Given the description of an element on the screen output the (x, y) to click on. 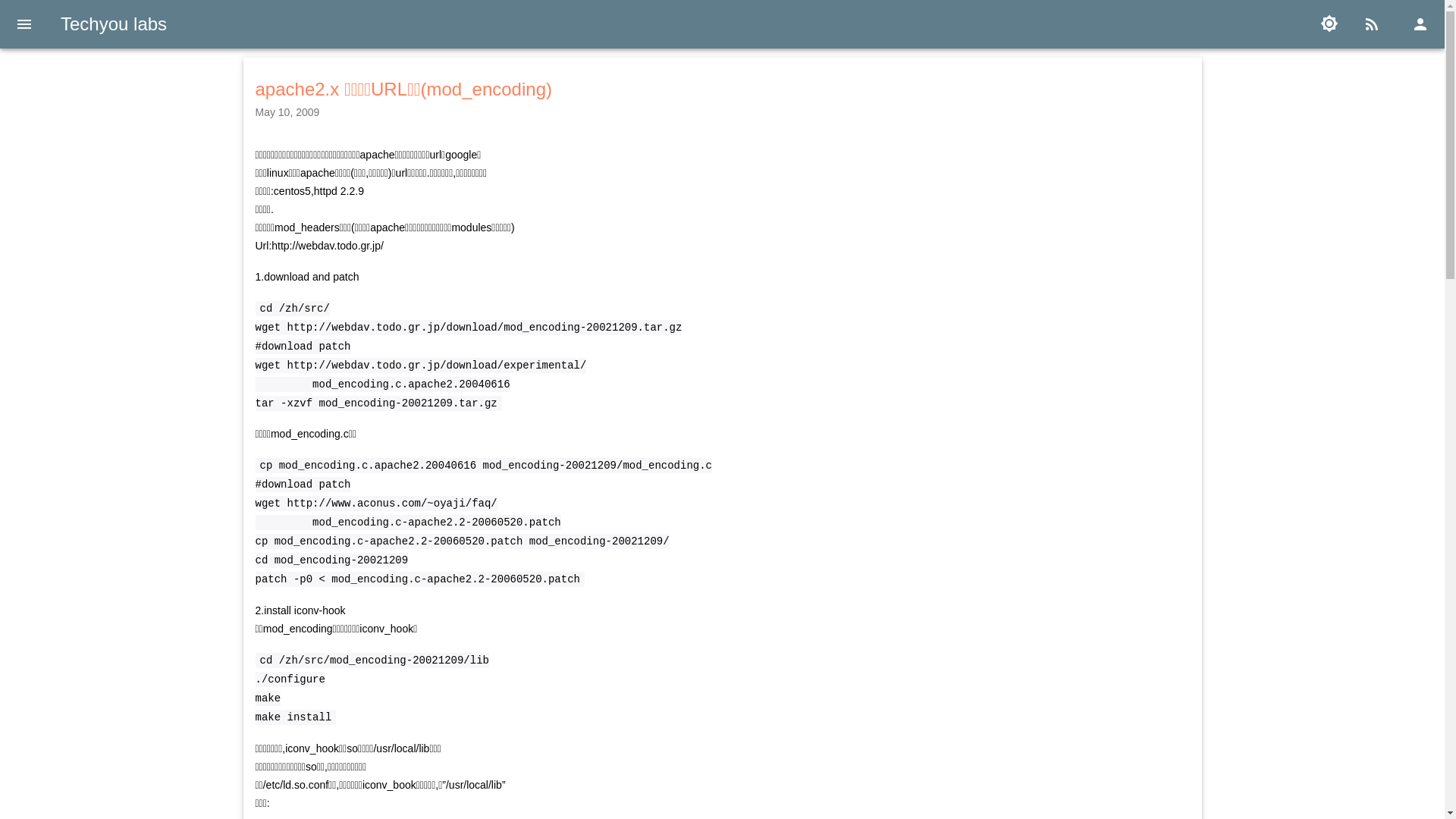
Techyou labs Element type: text (113, 24)
